Given the description of an element on the screen output the (x, y) to click on. 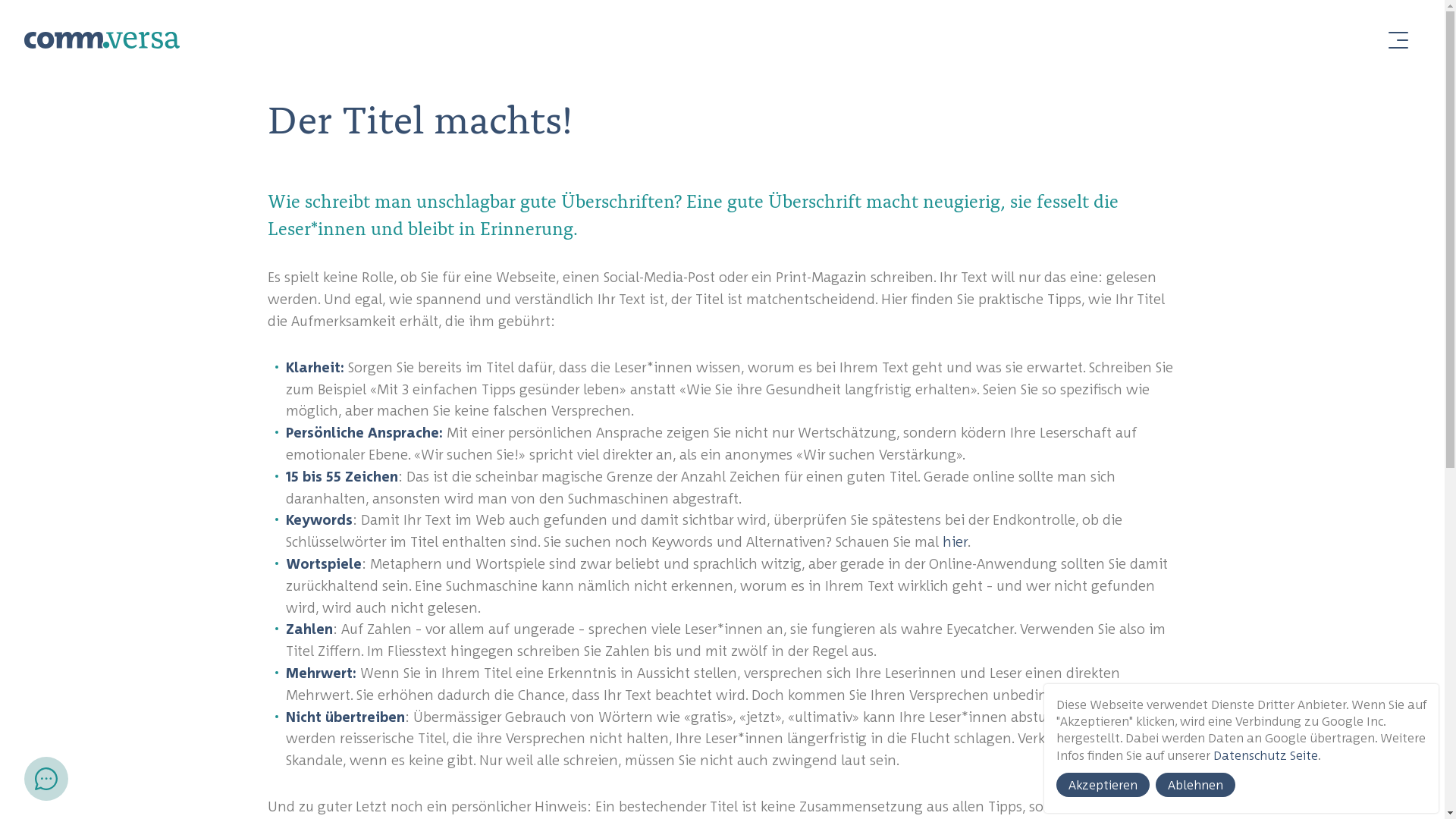
hier Element type: text (953, 541)
Datenschutz Seite Element type: text (1265, 754)
